Given the description of an element on the screen output the (x, y) to click on. 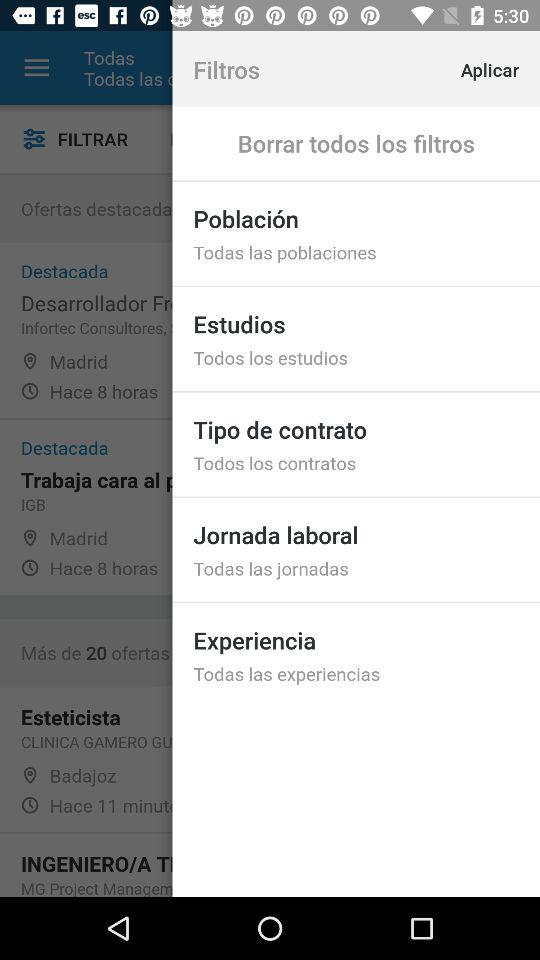
turn off the item to the left of the todas icon (36, 68)
